Given the description of an element on the screen output the (x, y) to click on. 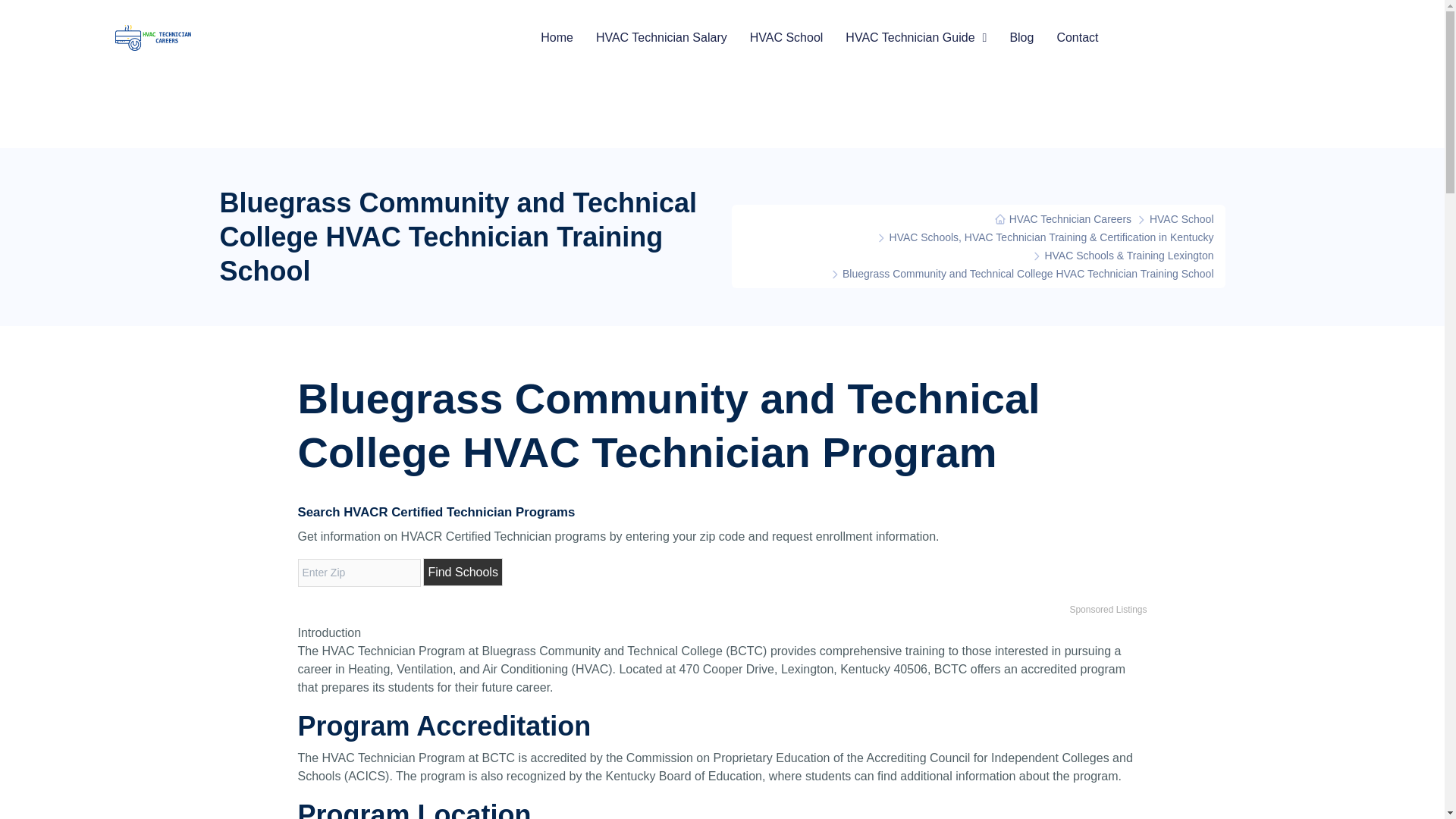
Go to HVAC School. (1182, 218)
Home (556, 37)
Find Schools (462, 571)
HVAC Technician Guide (916, 37)
Contact (1077, 37)
HVAC Technician Salary (660, 37)
Blog (1021, 37)
Go to HVAC Technician Careers. (1062, 218)
HVAC School (786, 37)
